Given the description of an element on the screen output the (x, y) to click on. 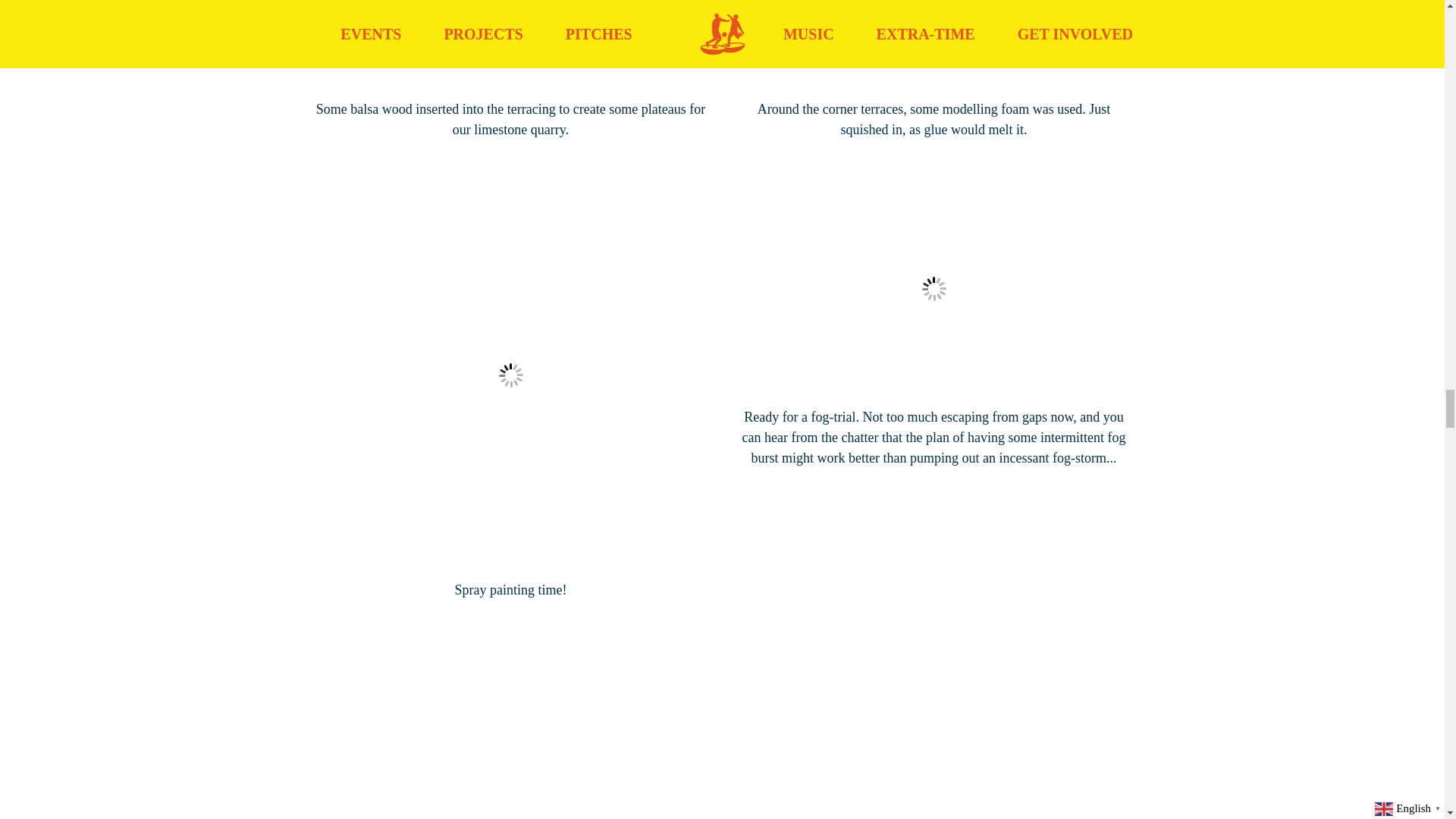
Fog in Situ (933, 288)
